Given the description of an element on the screen output the (x, y) to click on. 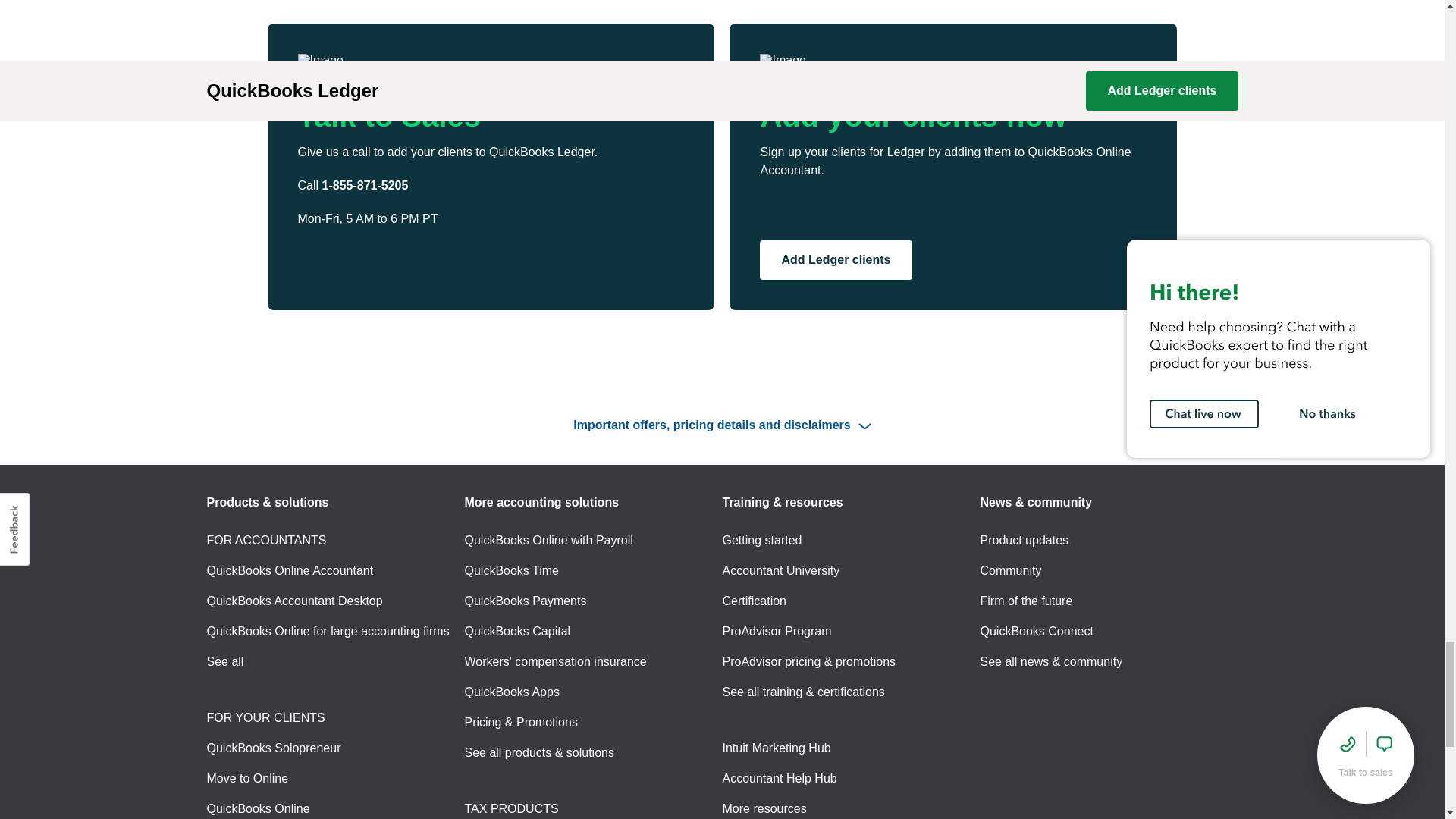
QuickBooks Online Accountant (289, 570)
Add Ledger clients (835, 260)
